Given the description of an element on the screen output the (x, y) to click on. 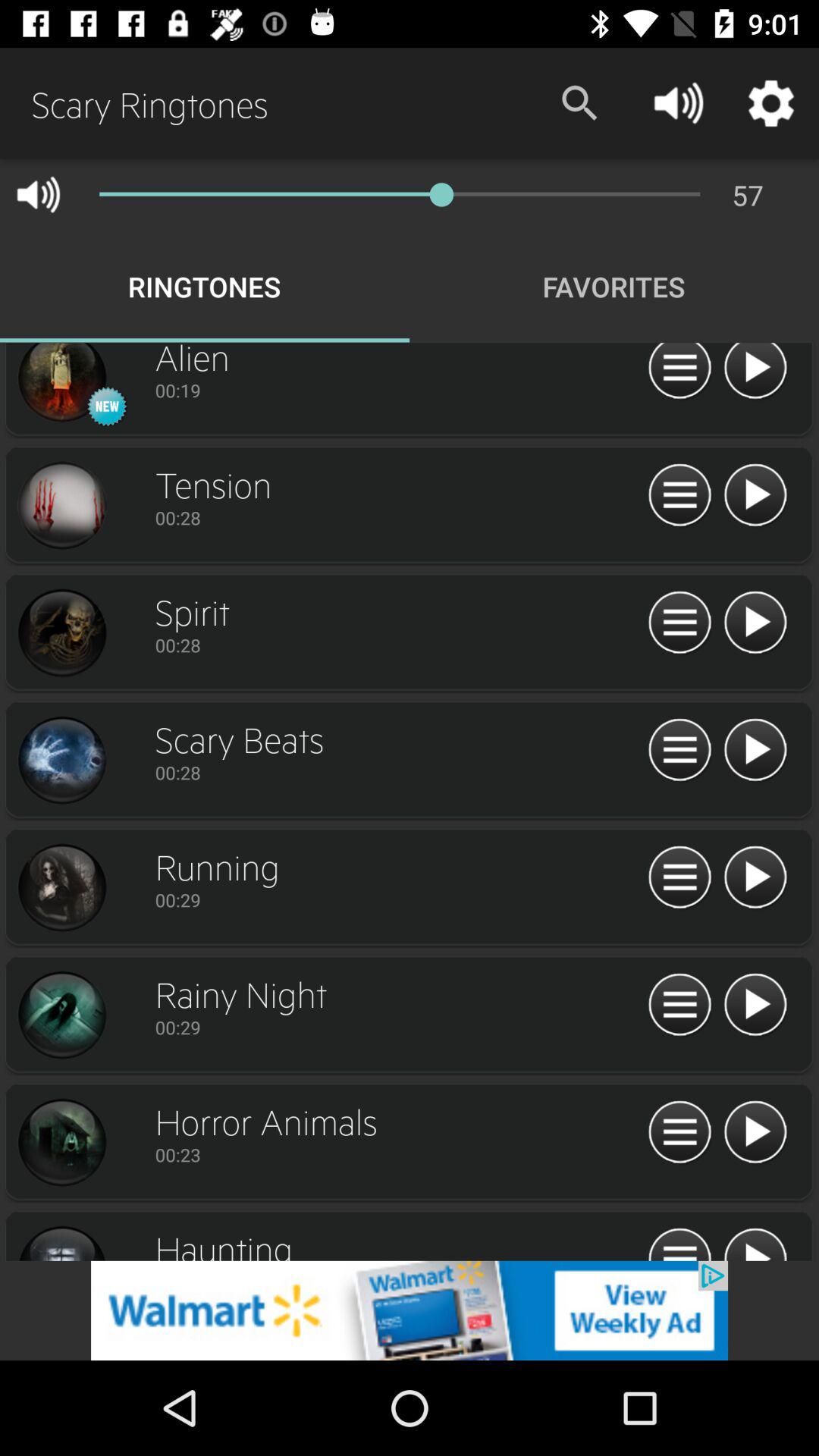
plays individual selection (755, 373)
